Given the description of an element on the screen output the (x, y) to click on. 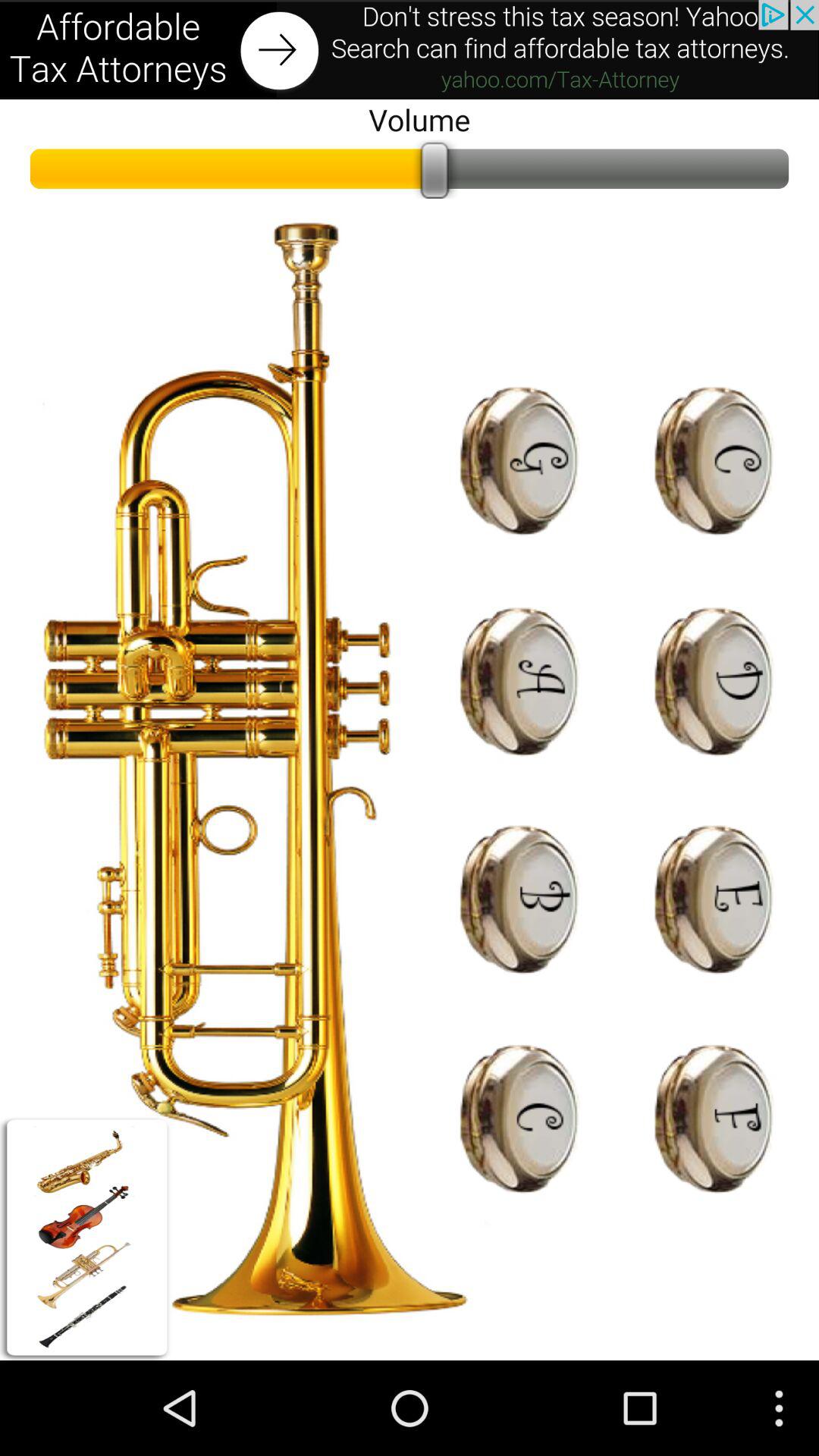
open an advertisement (409, 49)
